Given the description of an element on the screen output the (x, y) to click on. 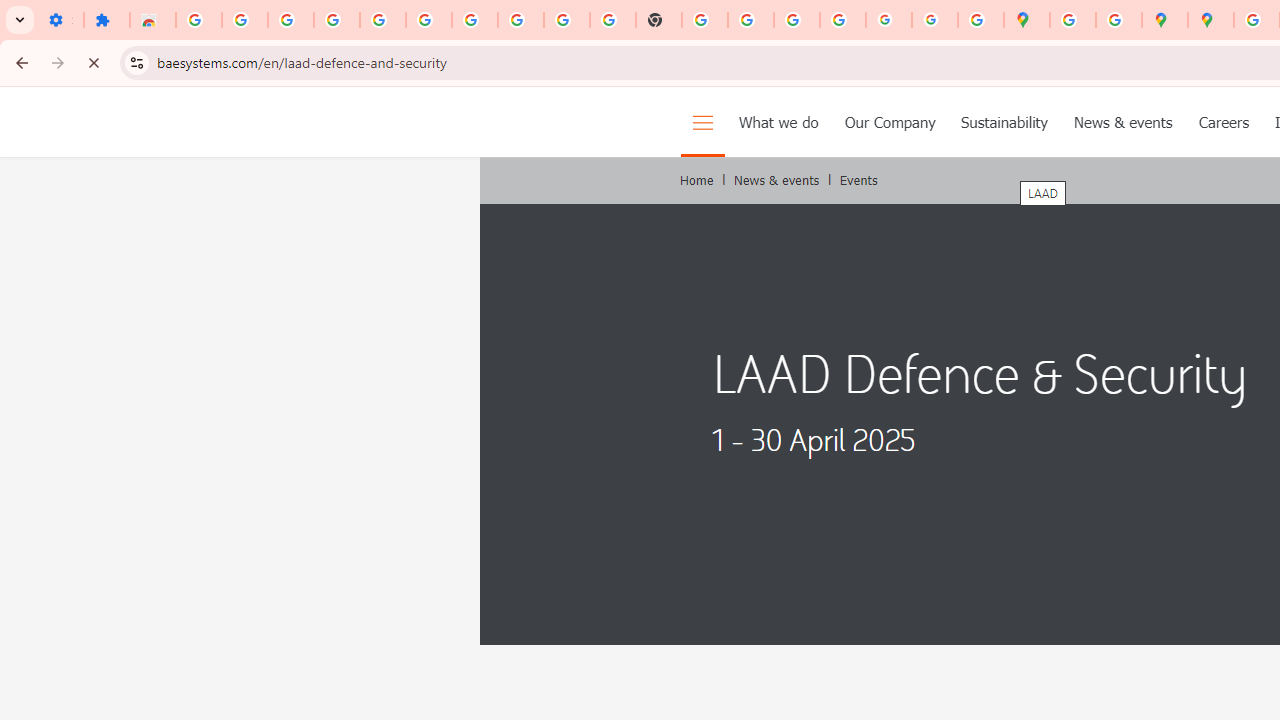
New Tab (659, 20)
Reviews: Helix Fruit Jump Arcade Game (153, 20)
Settings - On startup (60, 20)
Google Account (520, 20)
Careers (1223, 121)
Our Company (890, 121)
YouTube (567, 20)
Google Maps (1026, 20)
